Given the description of an element on the screen output the (x, y) to click on. 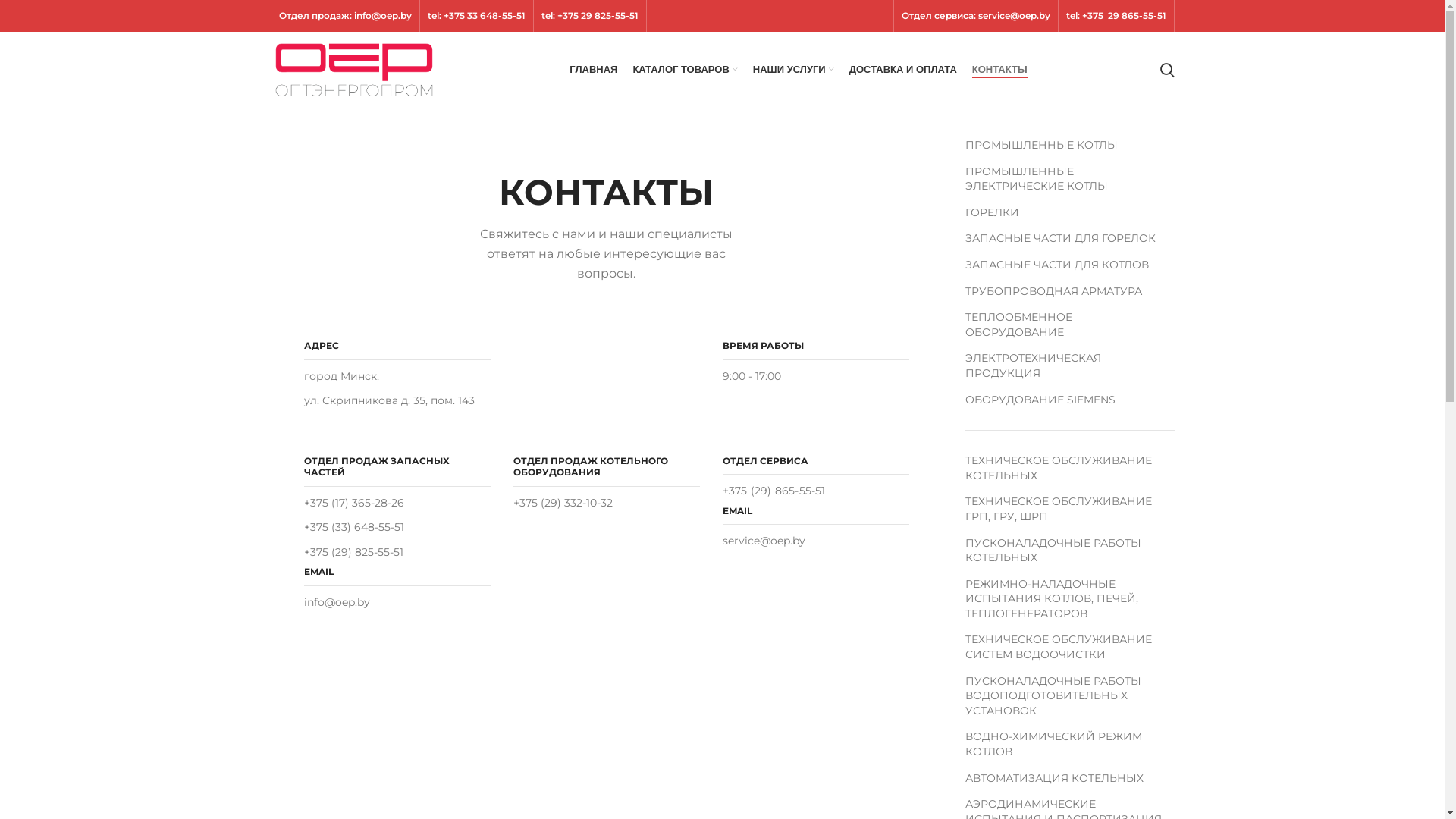
Search Element type: hover (1167, 69)
